Given the description of an element on the screen output the (x, y) to click on. 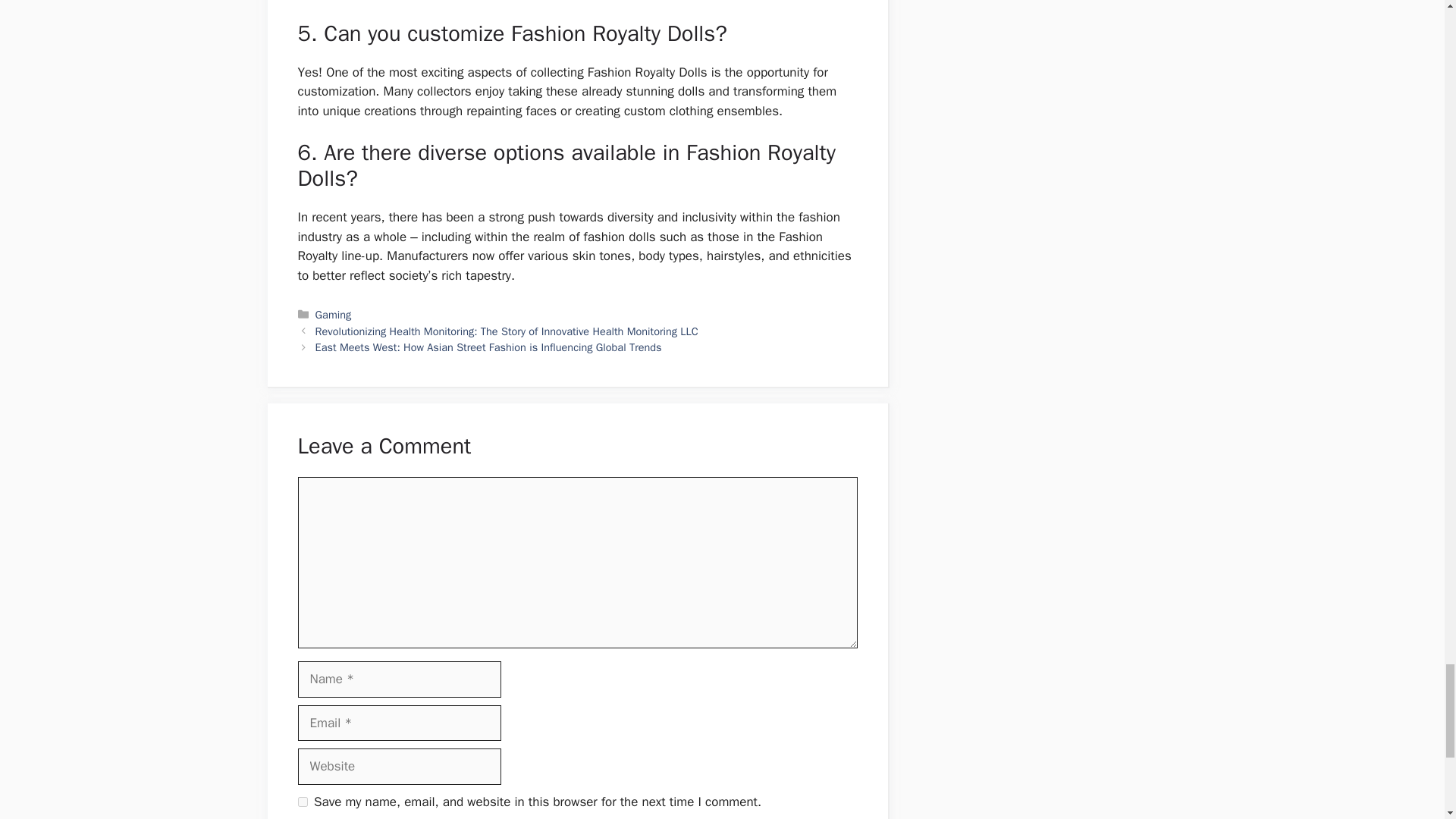
Gaming (333, 314)
yes (302, 801)
